Given the description of an element on the screen output the (x, y) to click on. 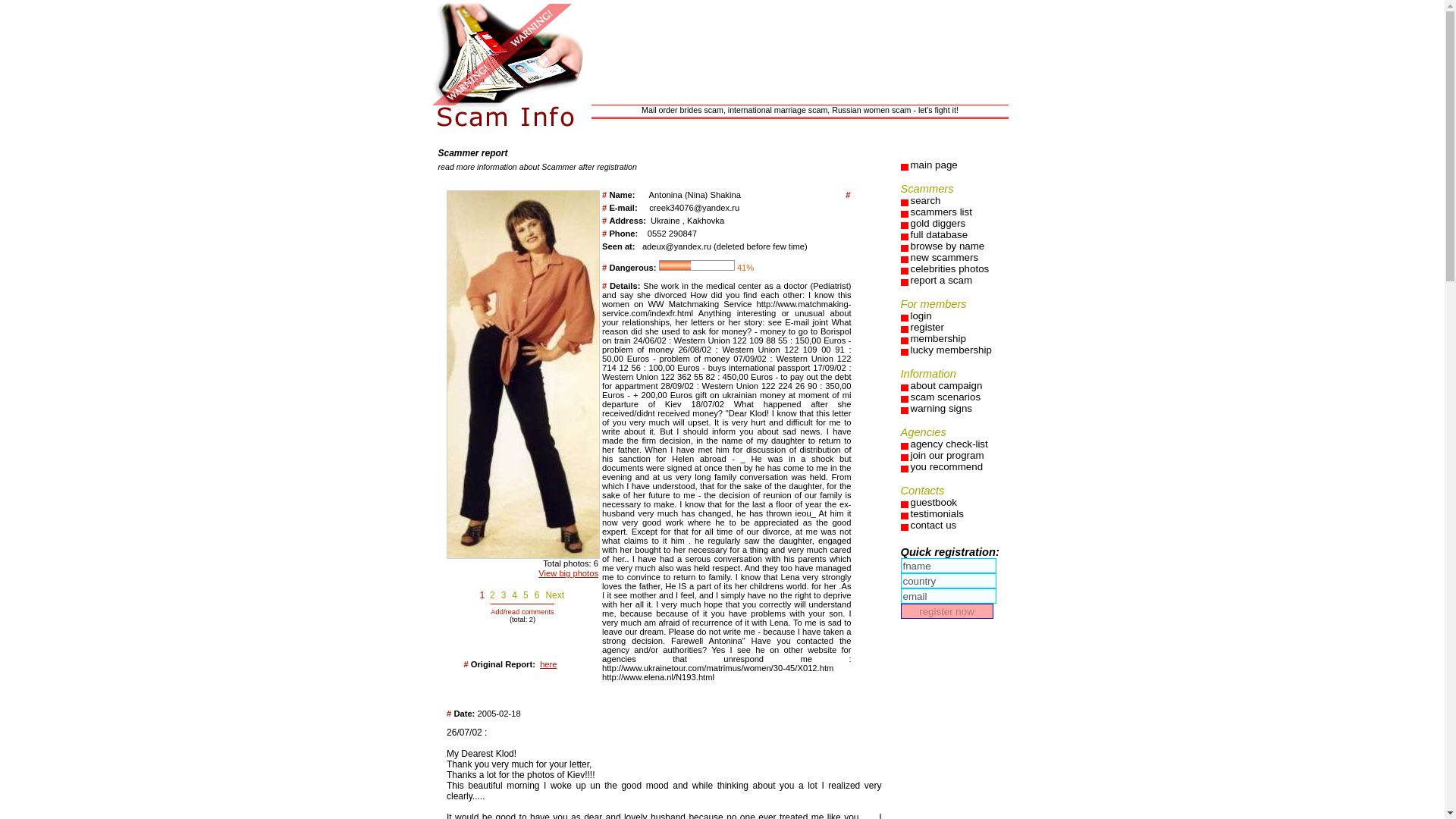
6 (537, 594)
join our program (957, 455)
full database (957, 234)
Anti scam main page (957, 164)
Next (554, 594)
testimonials (957, 513)
country (948, 580)
browse by name (957, 245)
about campaign (957, 385)
warning signs (957, 408)
main page (957, 164)
gold diggers (957, 223)
register (957, 326)
celebrities photos (957, 268)
agency check-list (957, 443)
